Given the description of an element on the screen output the (x, y) to click on. 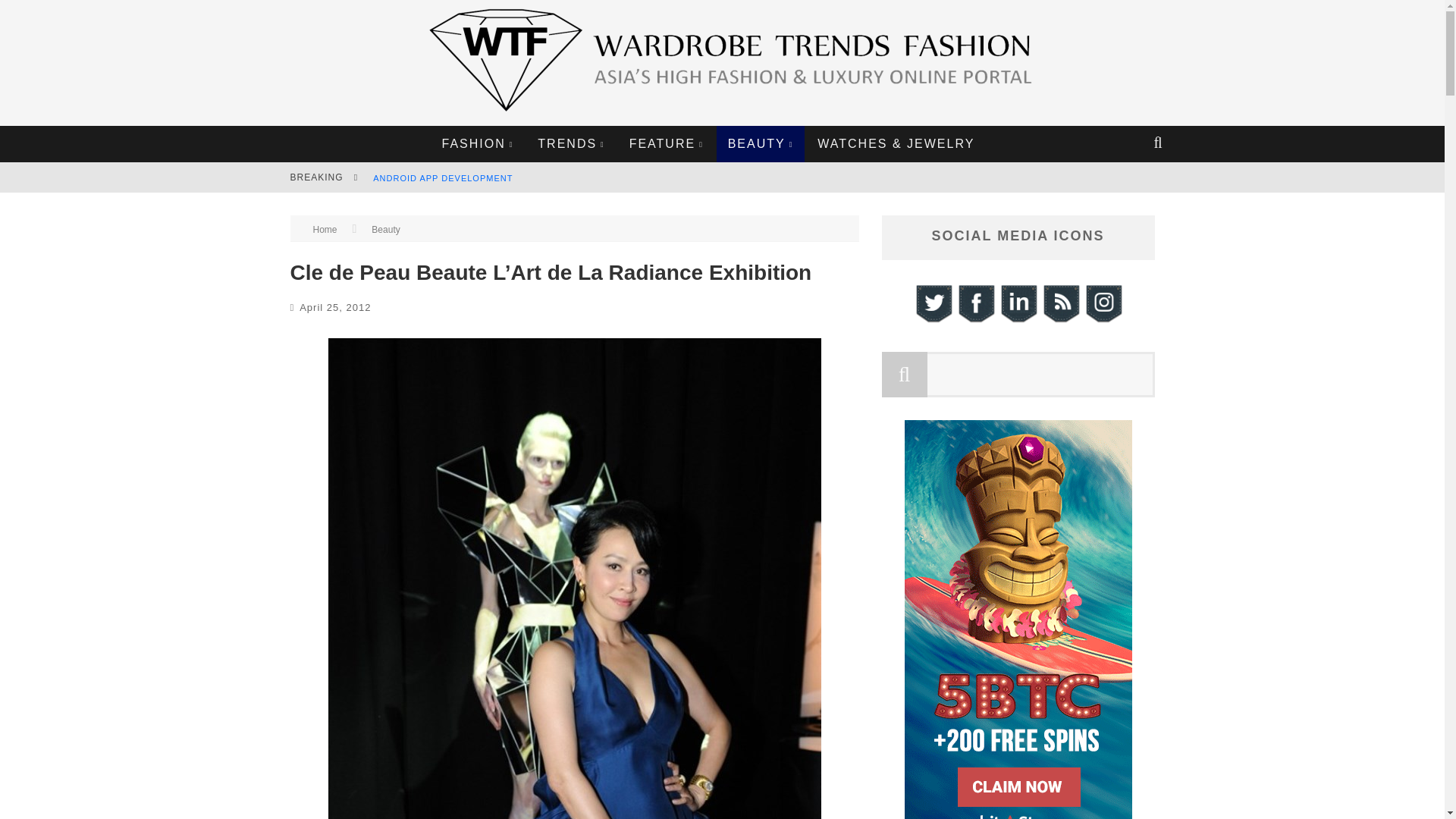
Visit Us On Linkedin (1017, 320)
Android App Development (442, 177)
View all posts in Beauty (384, 229)
Visit Us On Facebook (974, 320)
Check Our Feed (1060, 320)
Visit Us On Twitter (932, 320)
FASHION (477, 144)
Visit Us On Instagram (1102, 320)
